Given the description of an element on the screen output the (x, y) to click on. 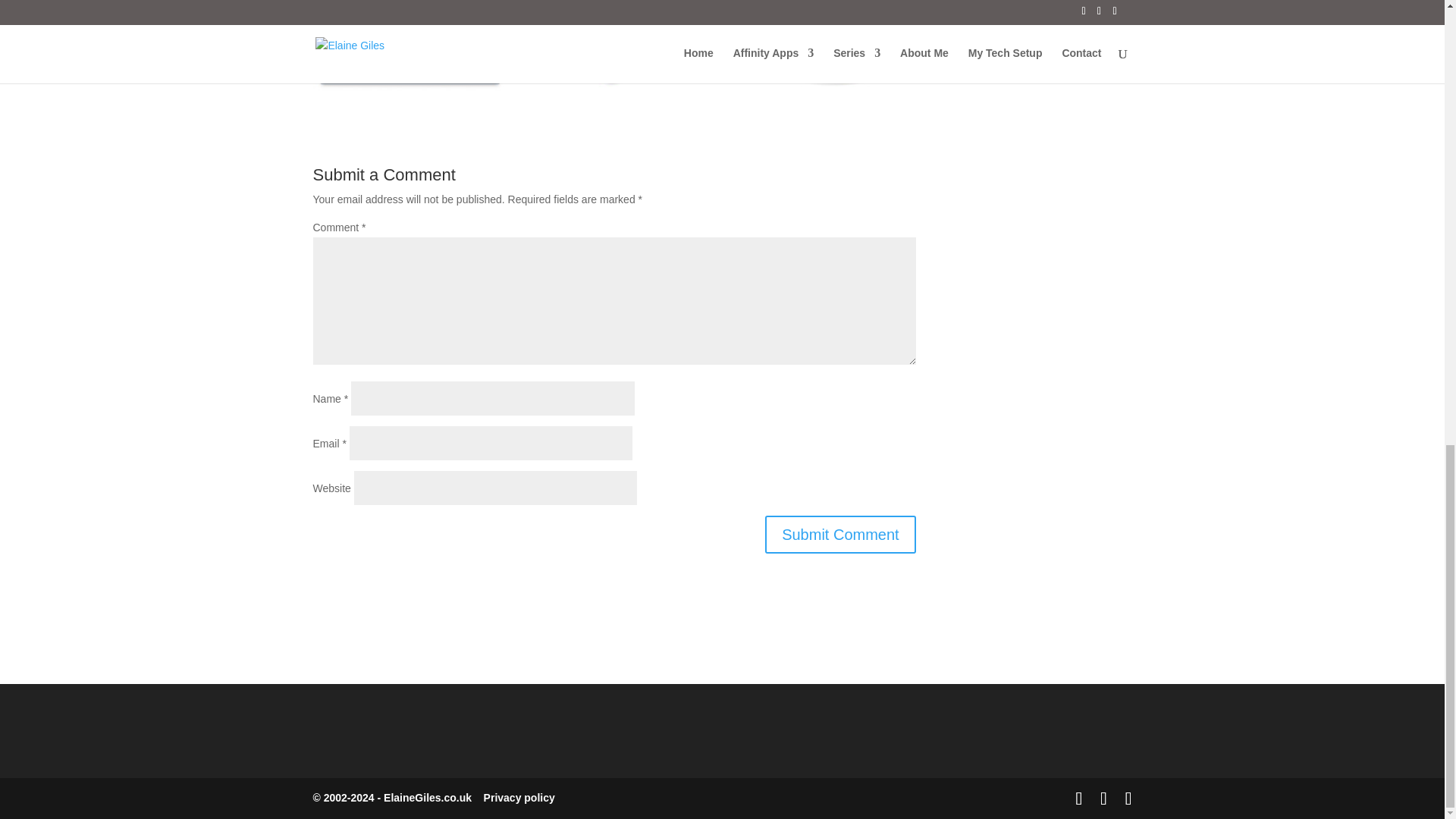
Submit Comment (840, 534)
Submit Comment (840, 534)
ElaineGiles.co.uk (427, 797)
Privacy policy (518, 797)
